Given the description of an element on the screen output the (x, y) to click on. 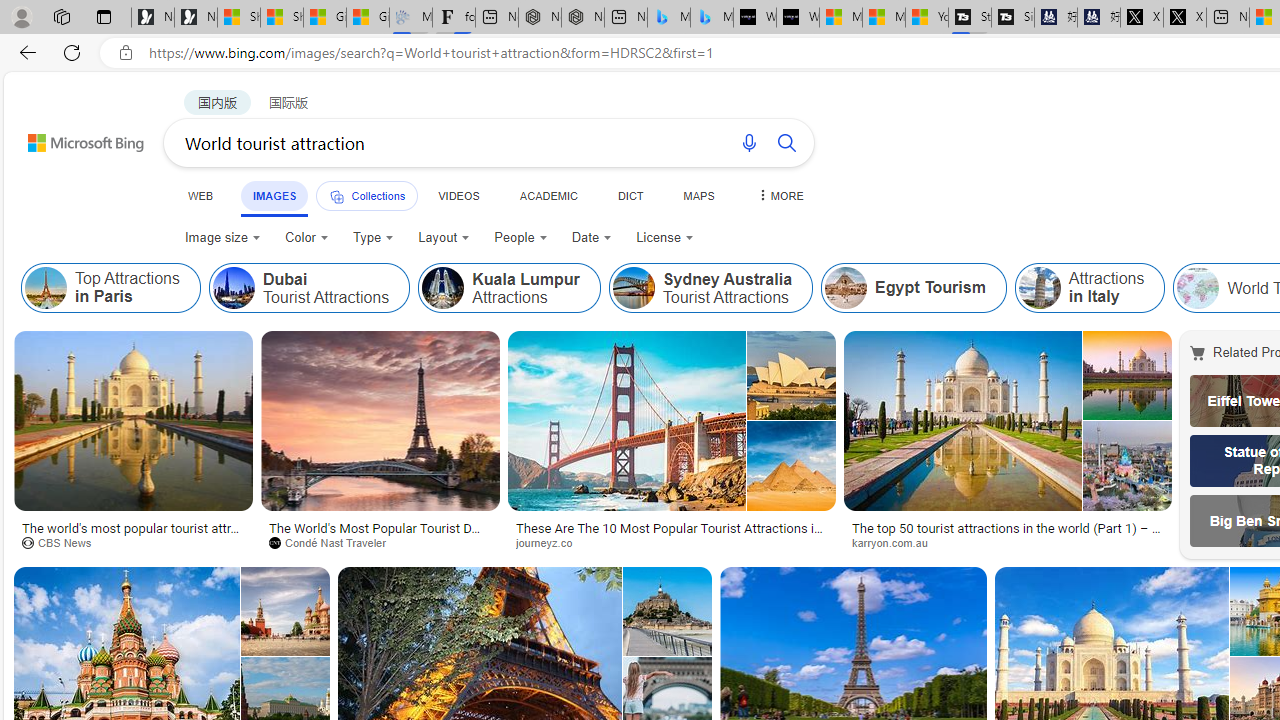
Egypt Tourism (846, 287)
Image size (221, 237)
Layout (443, 237)
License (664, 237)
IMAGES (274, 195)
Top Attractions in Paris (45, 287)
Attractions in Italy (1089, 287)
Class: b_pri_nav_svg (336, 196)
